Given the description of an element on the screen output the (x, y) to click on. 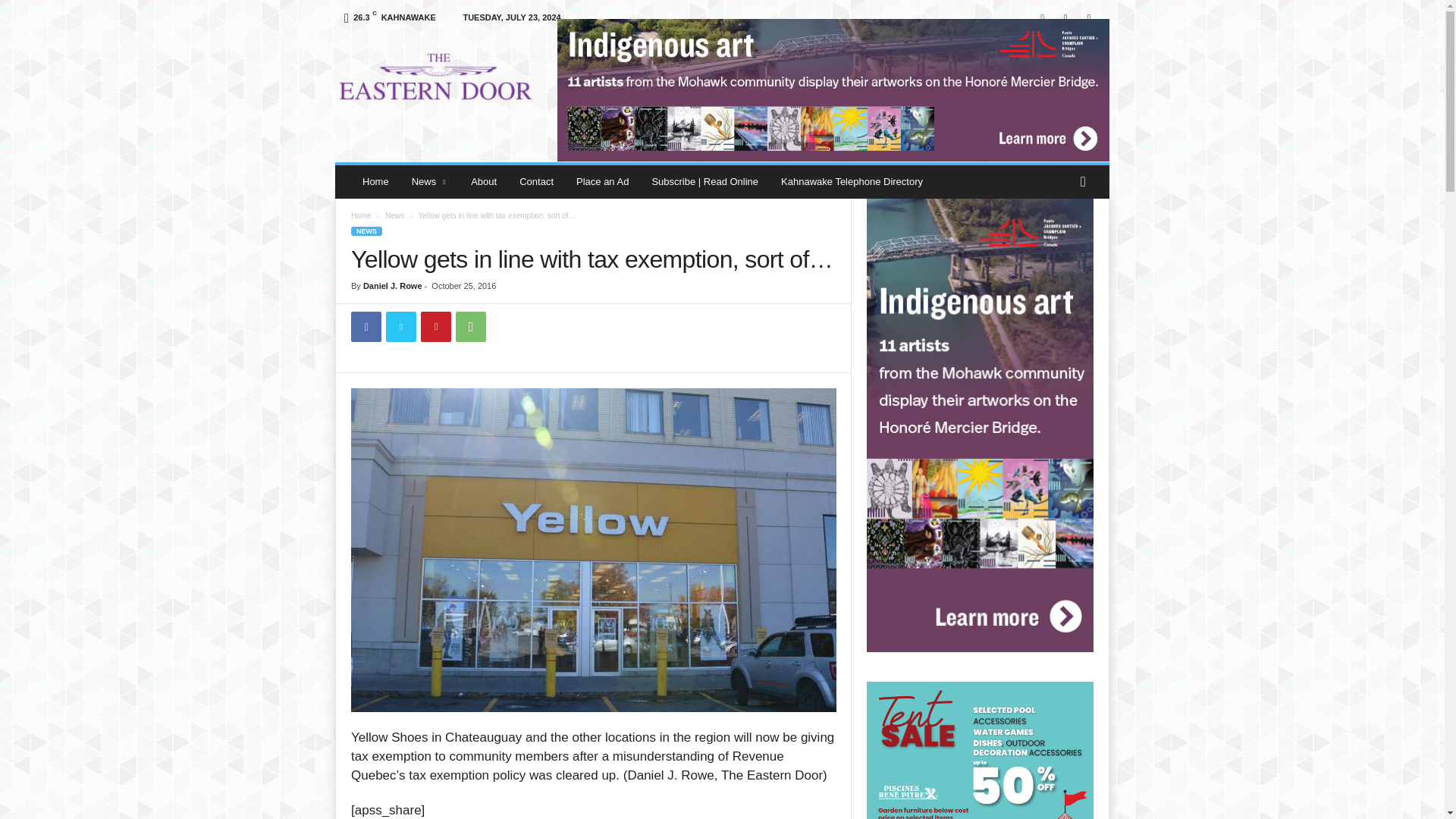
View all posts in News (394, 215)
Kahnawake Telephone Directory (852, 182)
News (394, 215)
The Eastern Door (437, 74)
Contact (536, 182)
TikTok (1065, 18)
Twitter (400, 327)
Place an Ad (602, 182)
WhatsApp (470, 327)
About (484, 182)
Pinterest (435, 327)
Facebook (365, 327)
Home (360, 215)
News (430, 182)
Facebook (1042, 18)
